Given the description of an element on the screen output the (x, y) to click on. 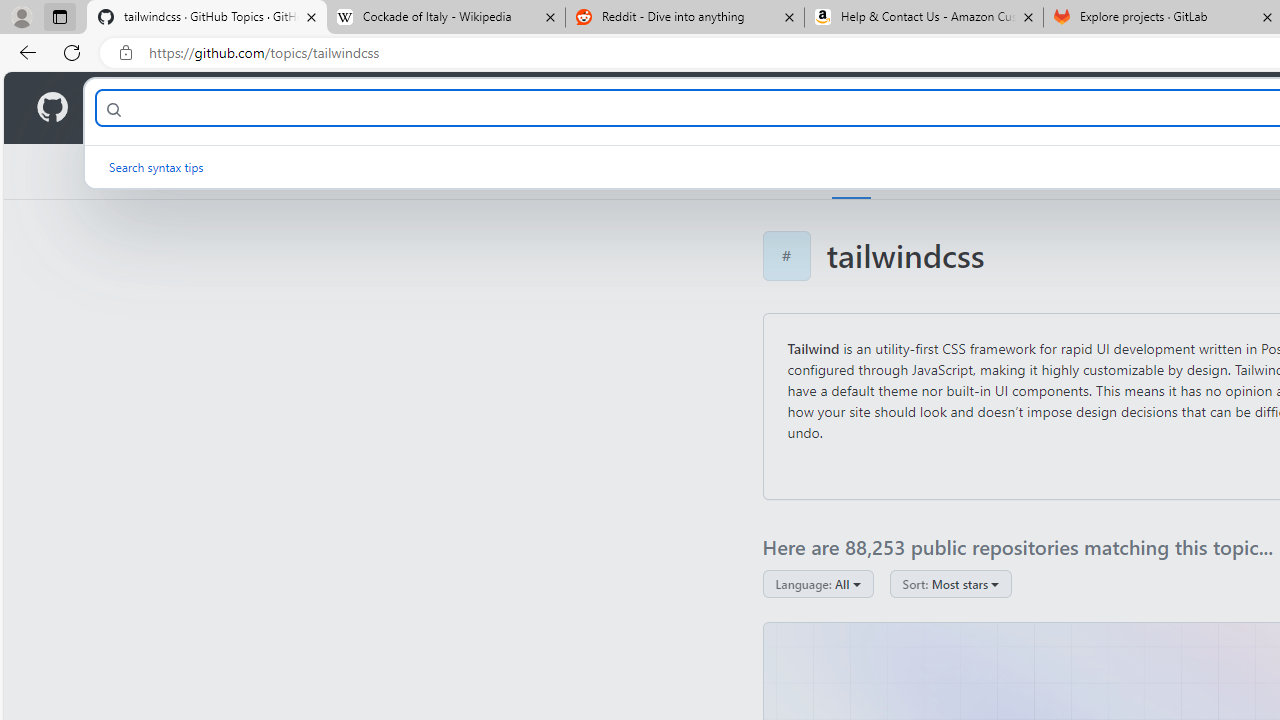
Product (130, 107)
